Given the description of an element on the screen output the (x, y) to click on. 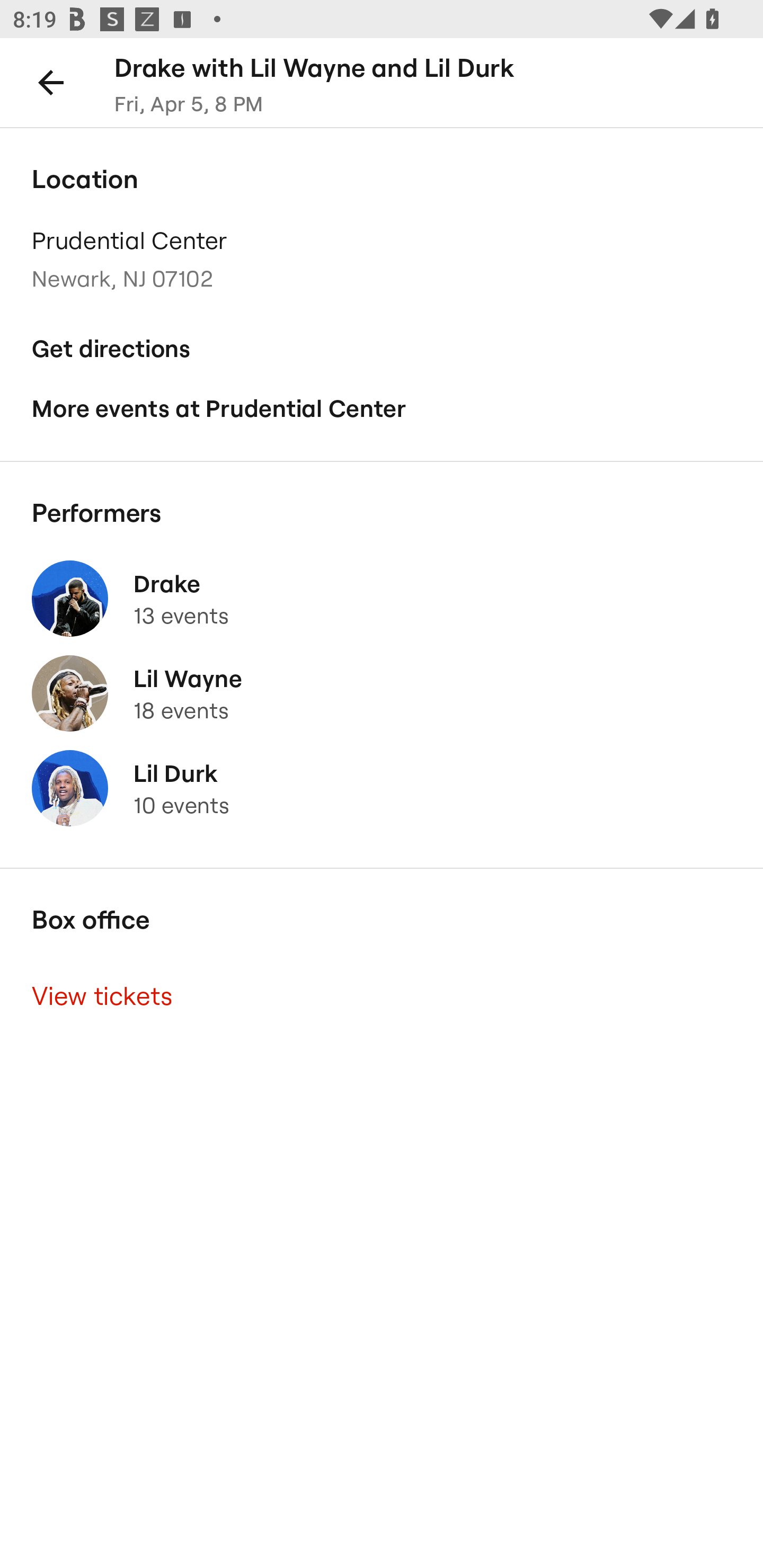
Back (50, 81)
Get directions (381, 348)
More events at Prudential Center (381, 409)
Drake 13 events (381, 598)
Lil Wayne 18 events (381, 693)
Lil Durk 10 events (381, 788)
View tickets (381, 996)
